Given the description of an element on the screen output the (x, y) to click on. 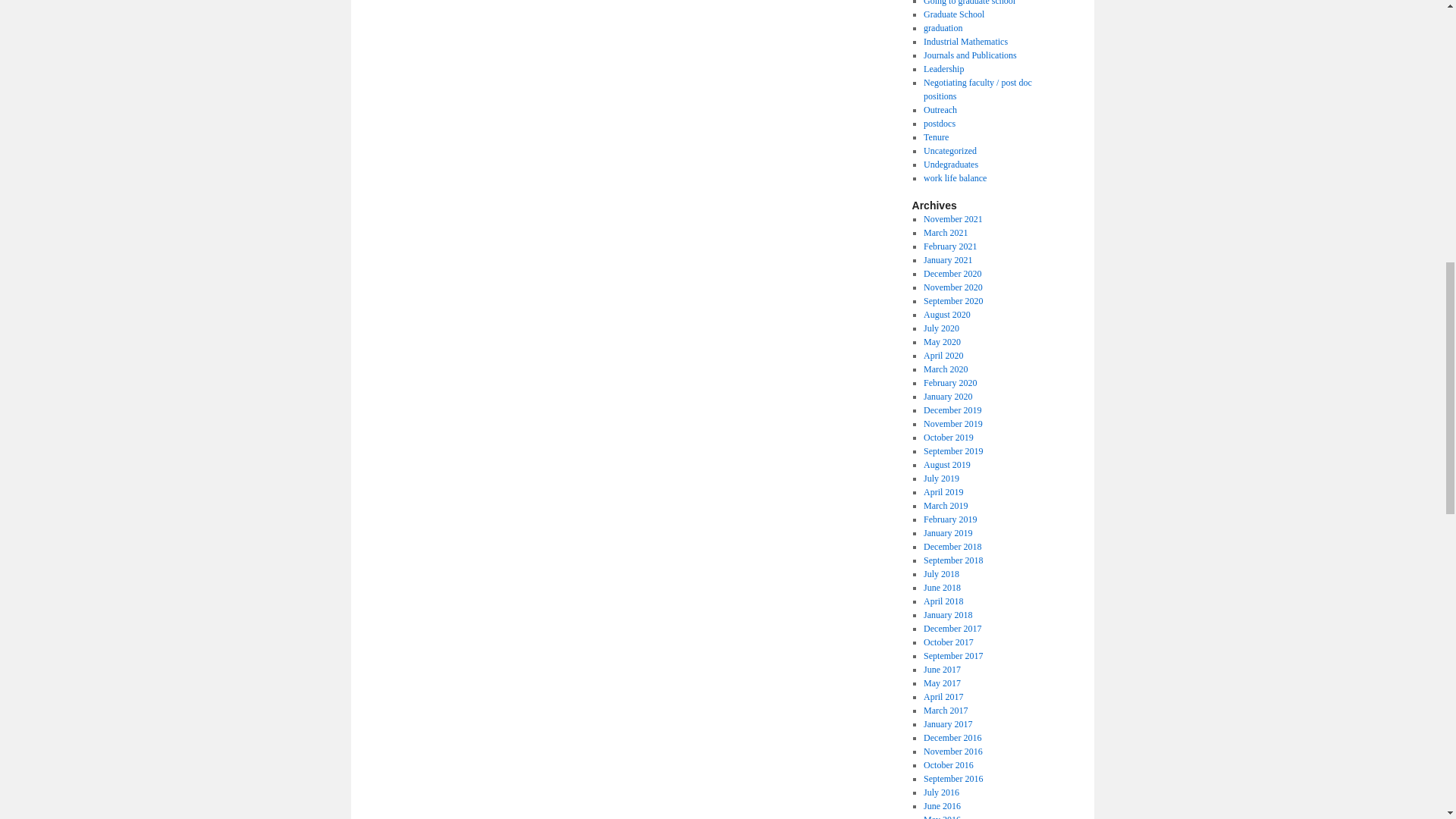
Going to graduate school (968, 2)
Industrial Mathematics (965, 41)
Graduate School (953, 14)
graduation (942, 27)
